Given the description of an element on the screen output the (x, y) to click on. 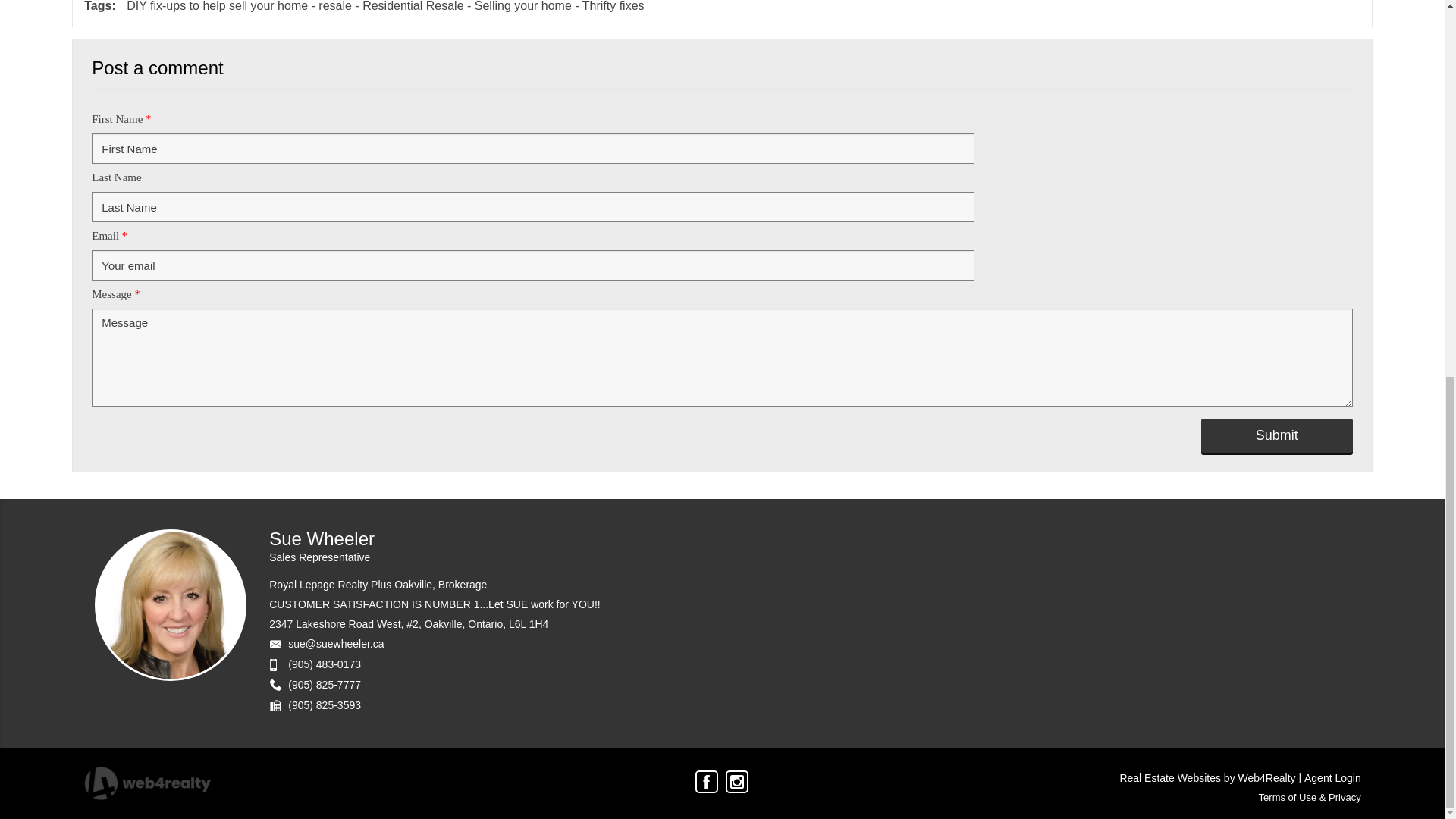
Thrifty fixes (613, 6)
Selling your home (523, 6)
DIY fix-ups to help sell your home (216, 6)
Submit (1276, 435)
Residential Resale (412, 6)
resale (335, 6)
